Given the description of an element on the screen output the (x, y) to click on. 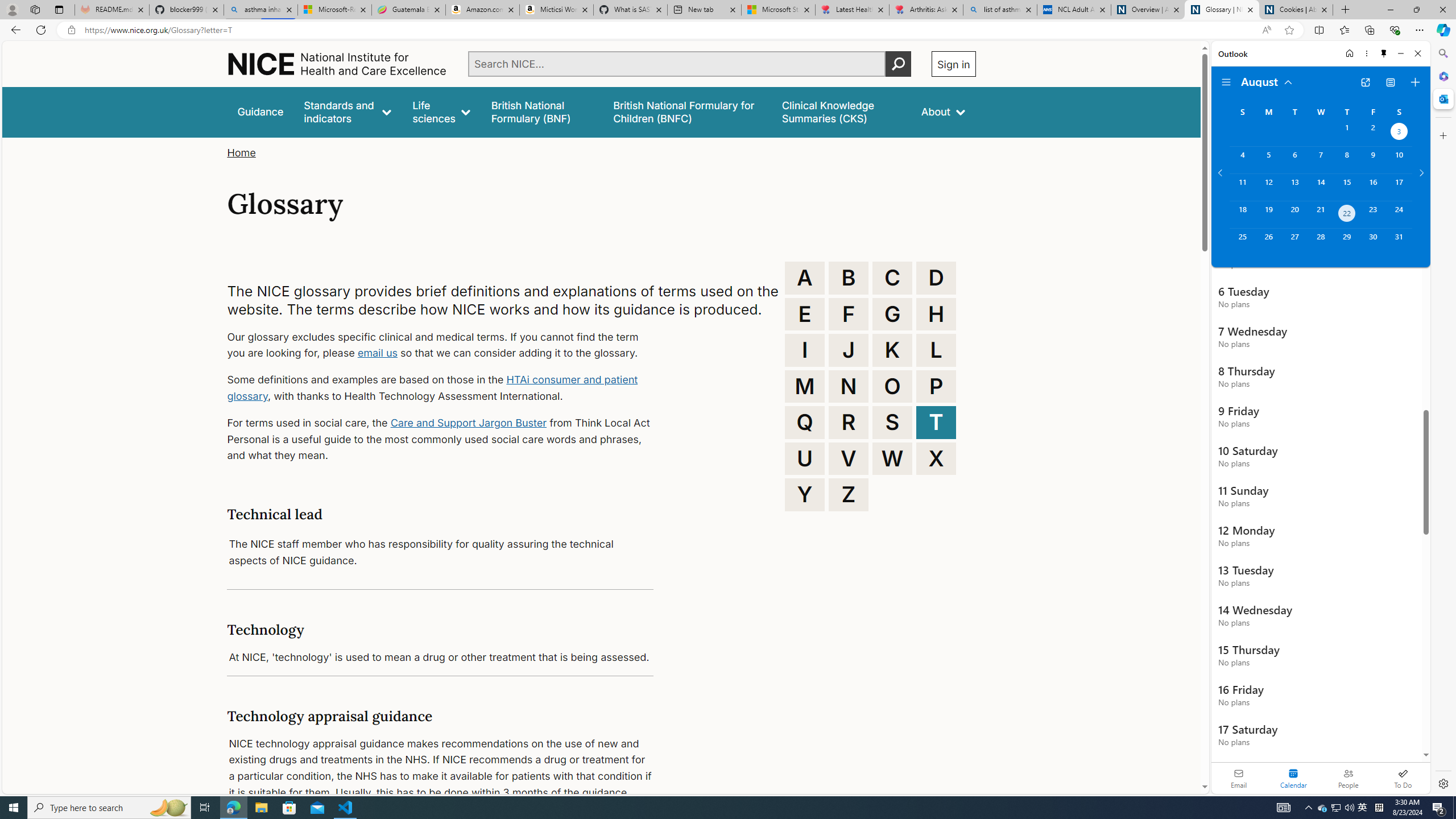
Wednesday, August 7, 2024.  (1320, 159)
Saturday, August 17, 2024.  (1399, 186)
T (935, 422)
View Switcher. Current view is Agenda view (1390, 82)
Z (848, 494)
U (804, 458)
